Given the description of an element on the screen output the (x, y) to click on. 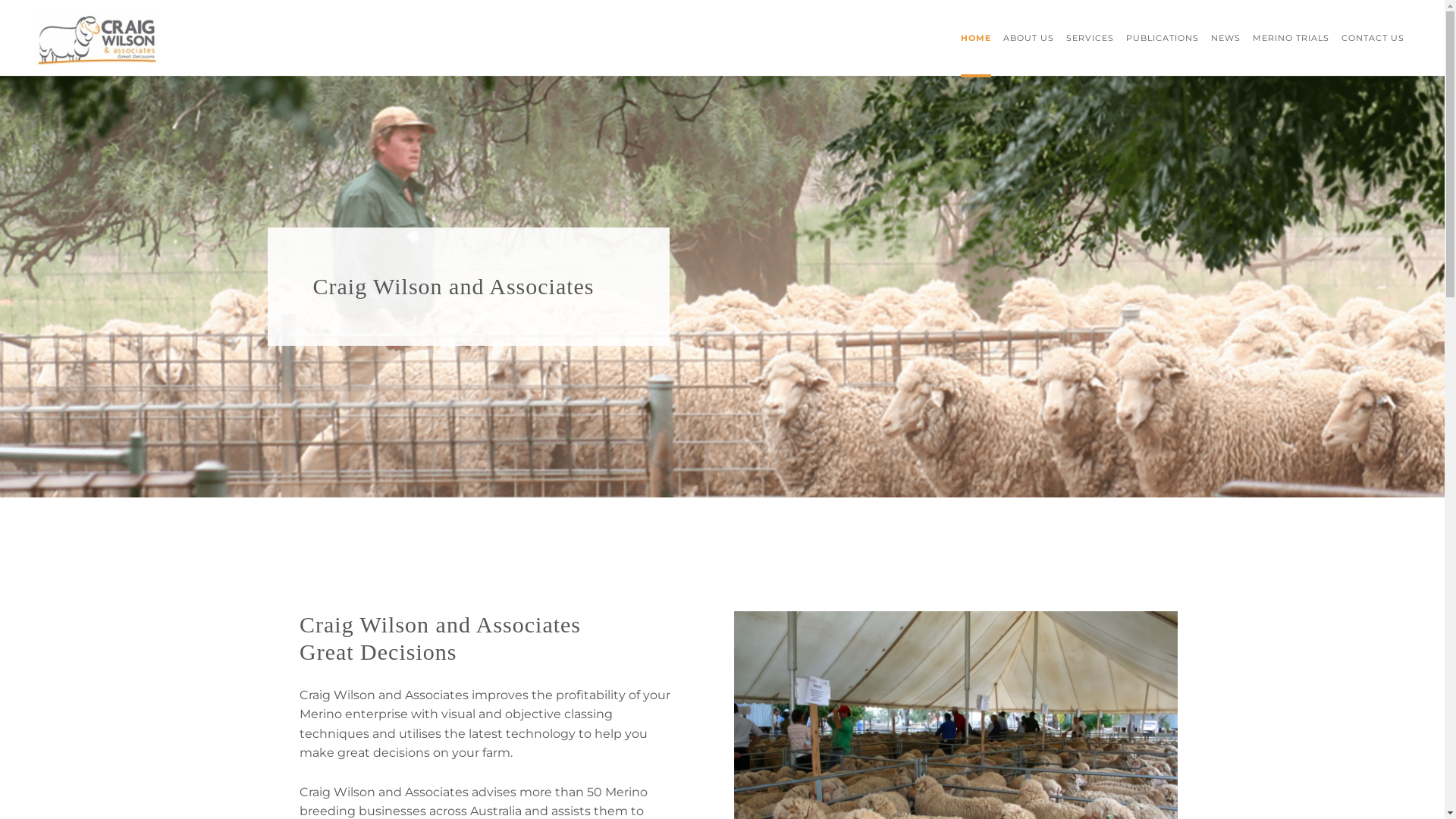
PUBLICATIONS Element type: text (1162, 37)
HOME Element type: text (975, 37)
CONTACT US Element type: text (1372, 37)
NEWS Element type: text (1225, 37)
MERINO TRIALS Element type: text (1290, 37)
SERVICES Element type: text (1089, 37)
ABOUT US Element type: text (1028, 37)
